Given the description of an element on the screen output the (x, y) to click on. 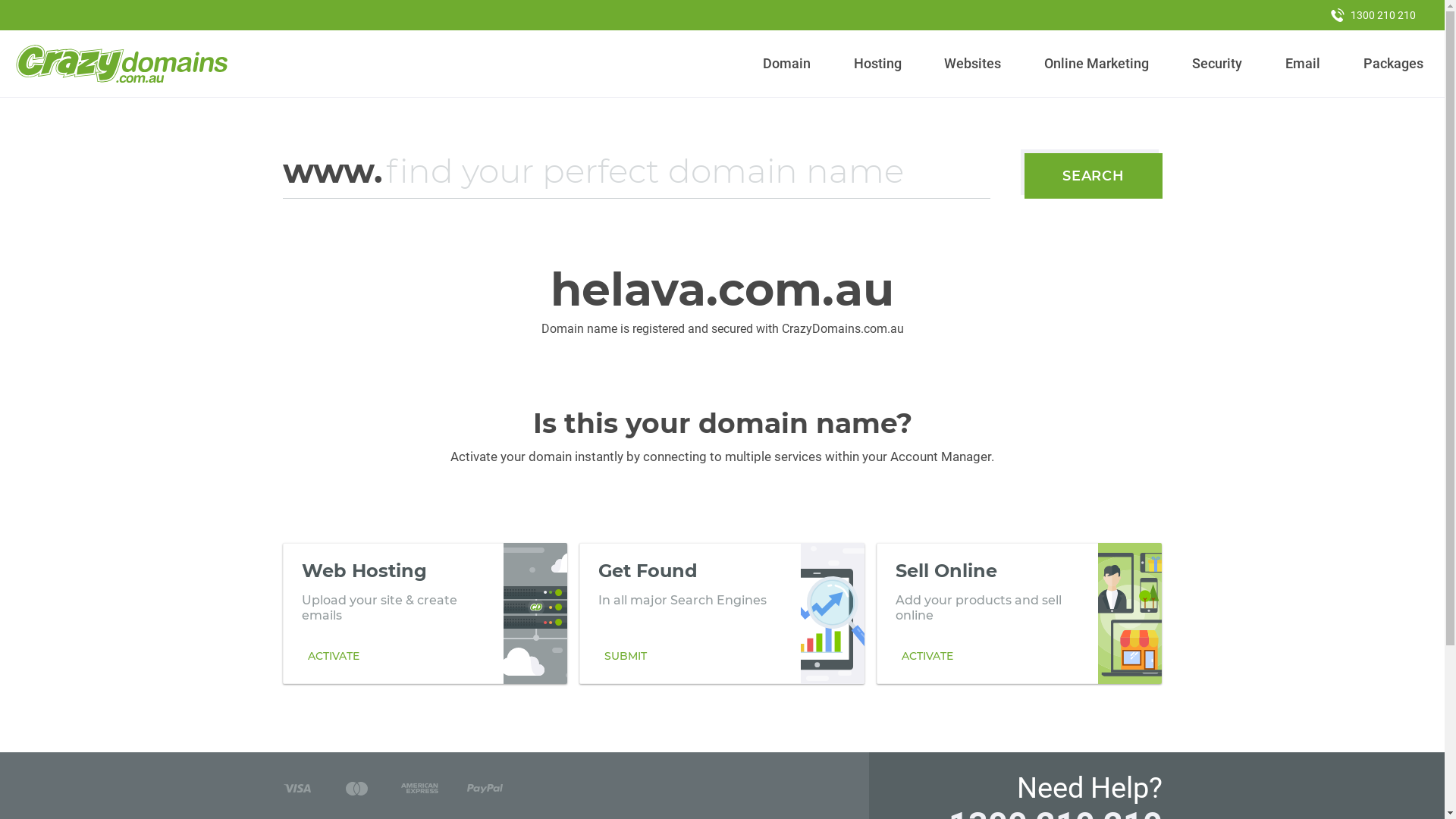
SEARCH Element type: text (1092, 175)
Domain Element type: text (786, 63)
1300 210 210 Element type: text (1373, 15)
Security Element type: text (1217, 63)
Get Found
In all major Search Engines
SUBMIT Element type: text (721, 613)
Packages Element type: text (1392, 63)
Hosting Element type: text (877, 63)
Web Hosting
Upload your site & create emails
ACTIVATE Element type: text (424, 613)
Websites Element type: text (972, 63)
Online Marketing Element type: text (1096, 63)
Sell Online
Add your products and sell online
ACTIVATE Element type: text (1018, 613)
Email Element type: text (1302, 63)
